Given the description of an element on the screen output the (x, y) to click on. 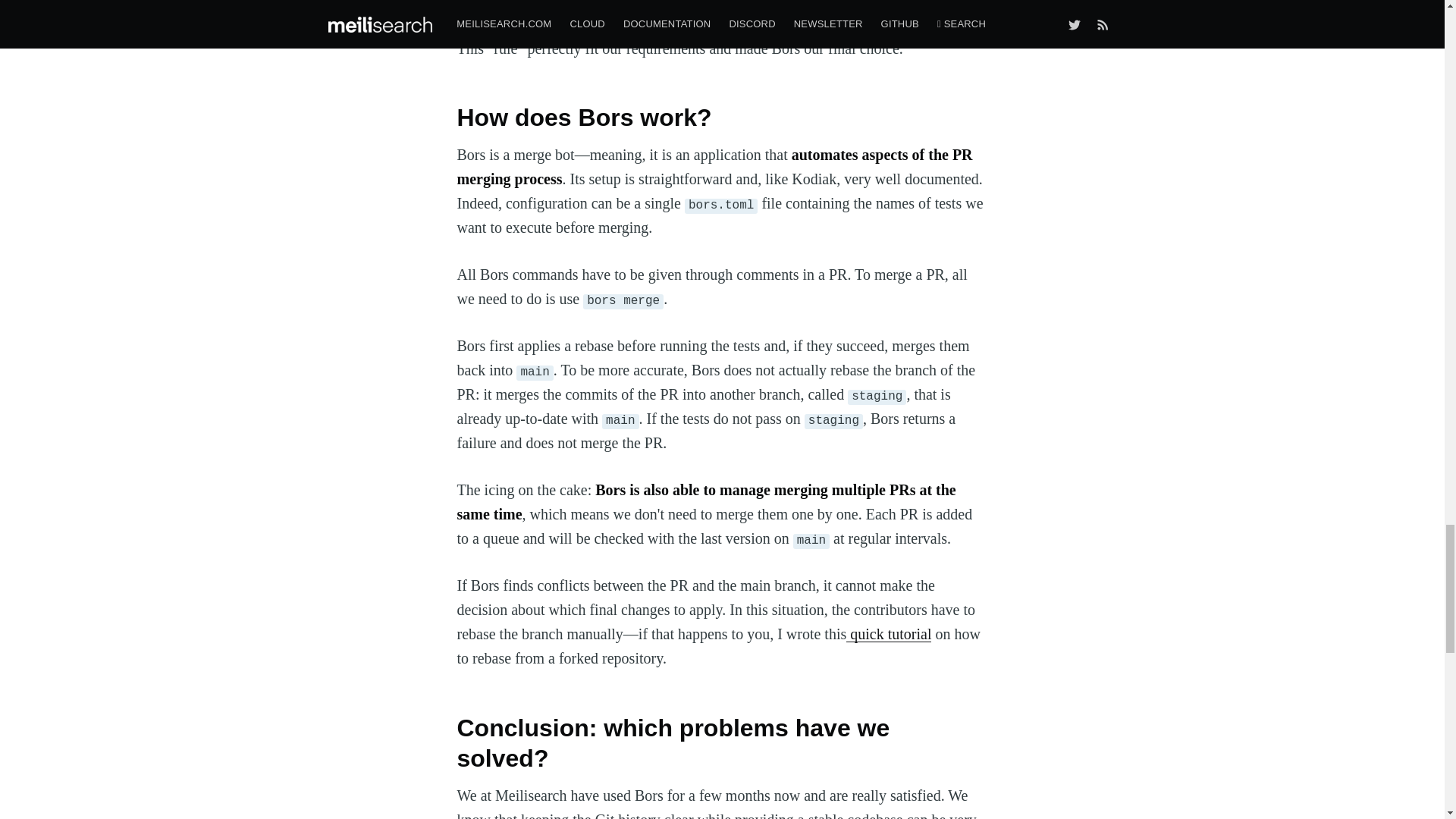
quick tutorial (888, 633)
